Given the description of an element on the screen output the (x, y) to click on. 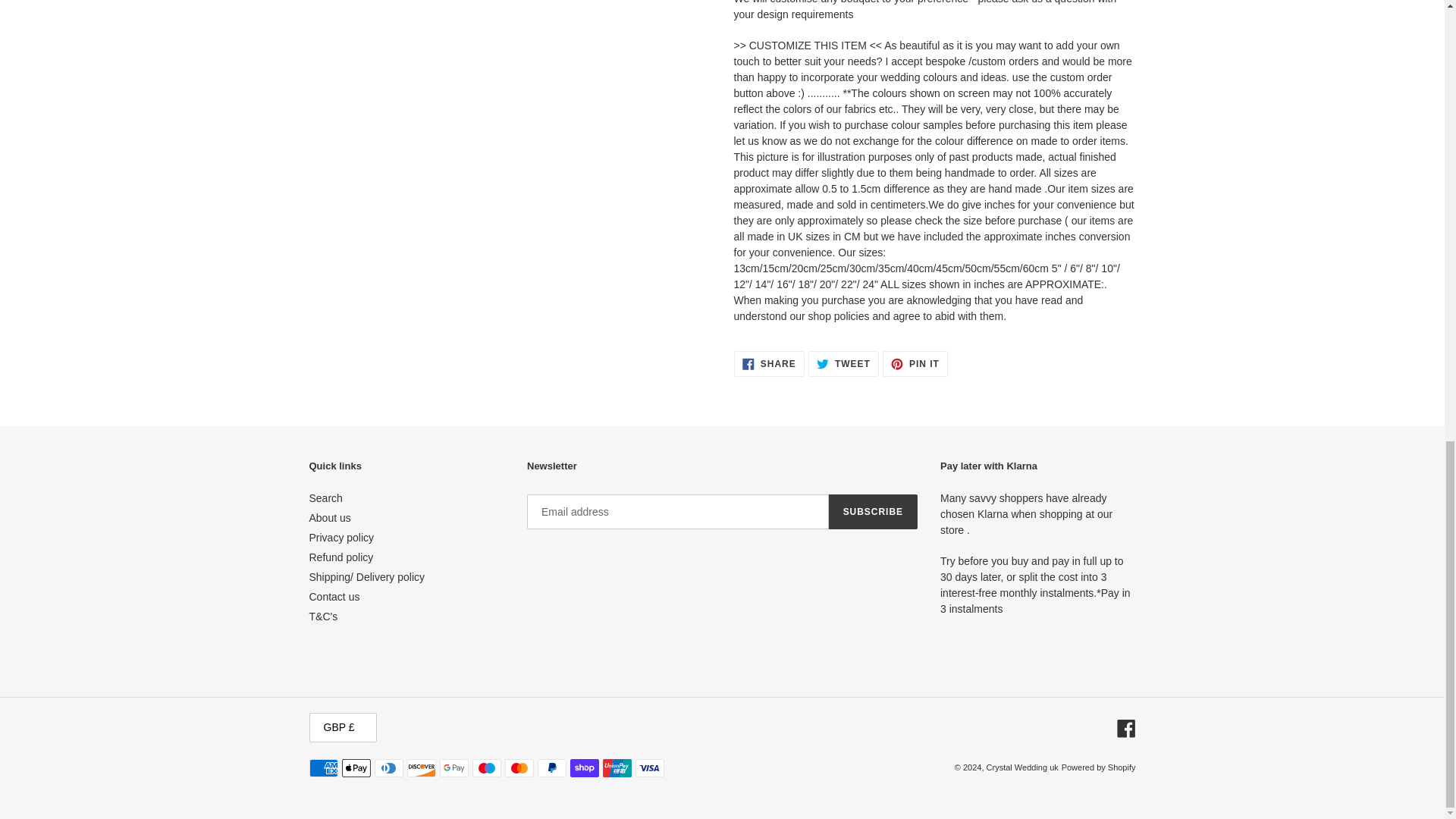
Search (914, 363)
SUBSCRIBE (325, 498)
Contact us (843, 363)
Privacy policy (872, 511)
About us (769, 363)
Refund policy (333, 596)
